Given the description of an element on the screen output the (x, y) to click on. 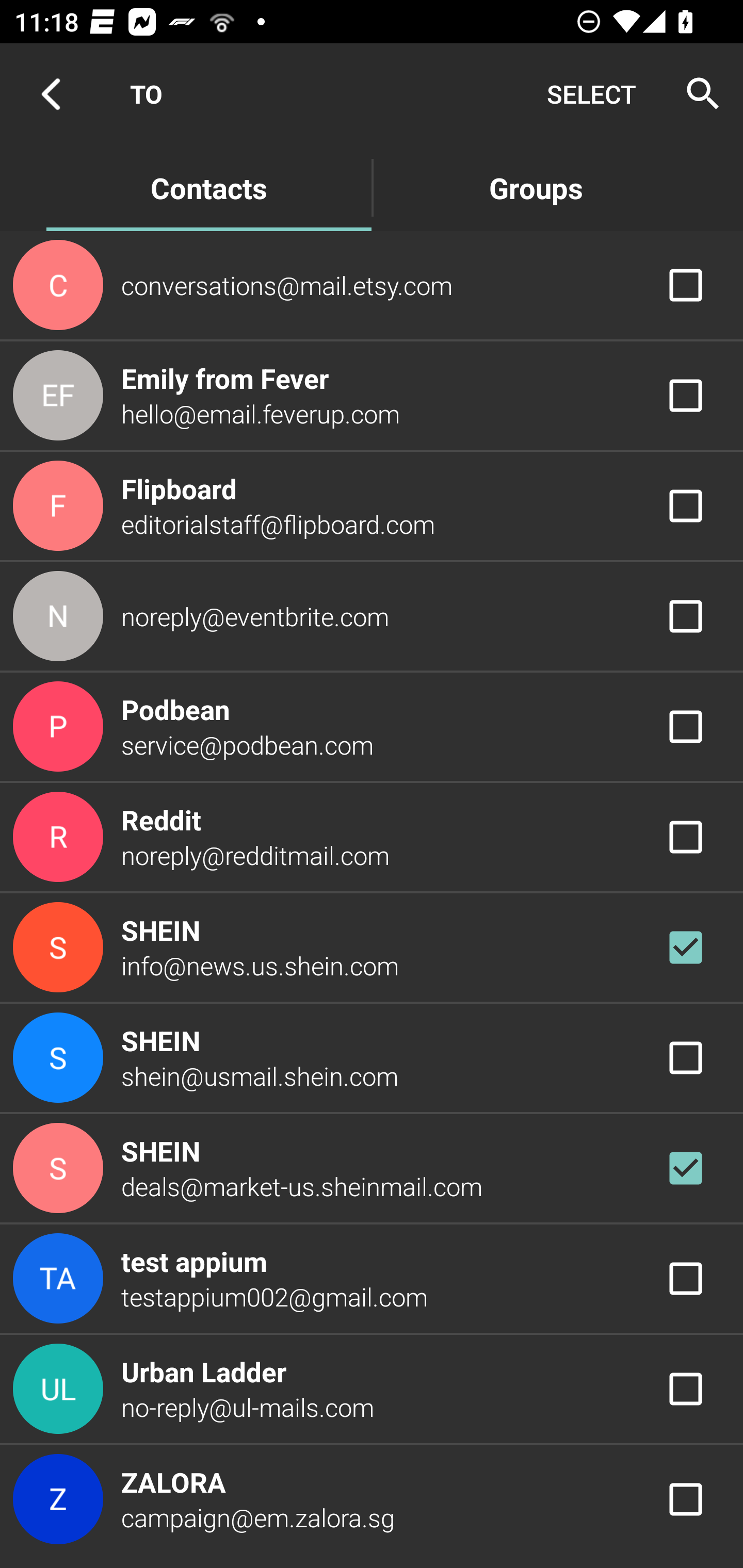
Navigate up (50, 93)
SELECT (590, 93)
Search (696, 93)
Contacts (208, 187)
Groups (535, 187)
conversations@mail.etsy.com (371, 284)
Emily from Fever hello@email.feverup.com (371, 395)
Flipboard editorialstaff@flipboard.com (371, 505)
noreply@eventbrite.com (371, 616)
Podbean service@podbean.com (371, 726)
Reddit noreply@redditmail.com (371, 836)
SHEIN info@news.us.shein.com (371, 947)
SHEIN shein@usmail.shein.com (371, 1057)
SHEIN deals@market-us.sheinmail.com (371, 1168)
test appium testappium002@gmail.com (371, 1278)
Urban Ladder no-reply@ul-mails.com (371, 1388)
ZALORA campaign@em.zalora.sg (371, 1499)
